Given the description of an element on the screen output the (x, y) to click on. 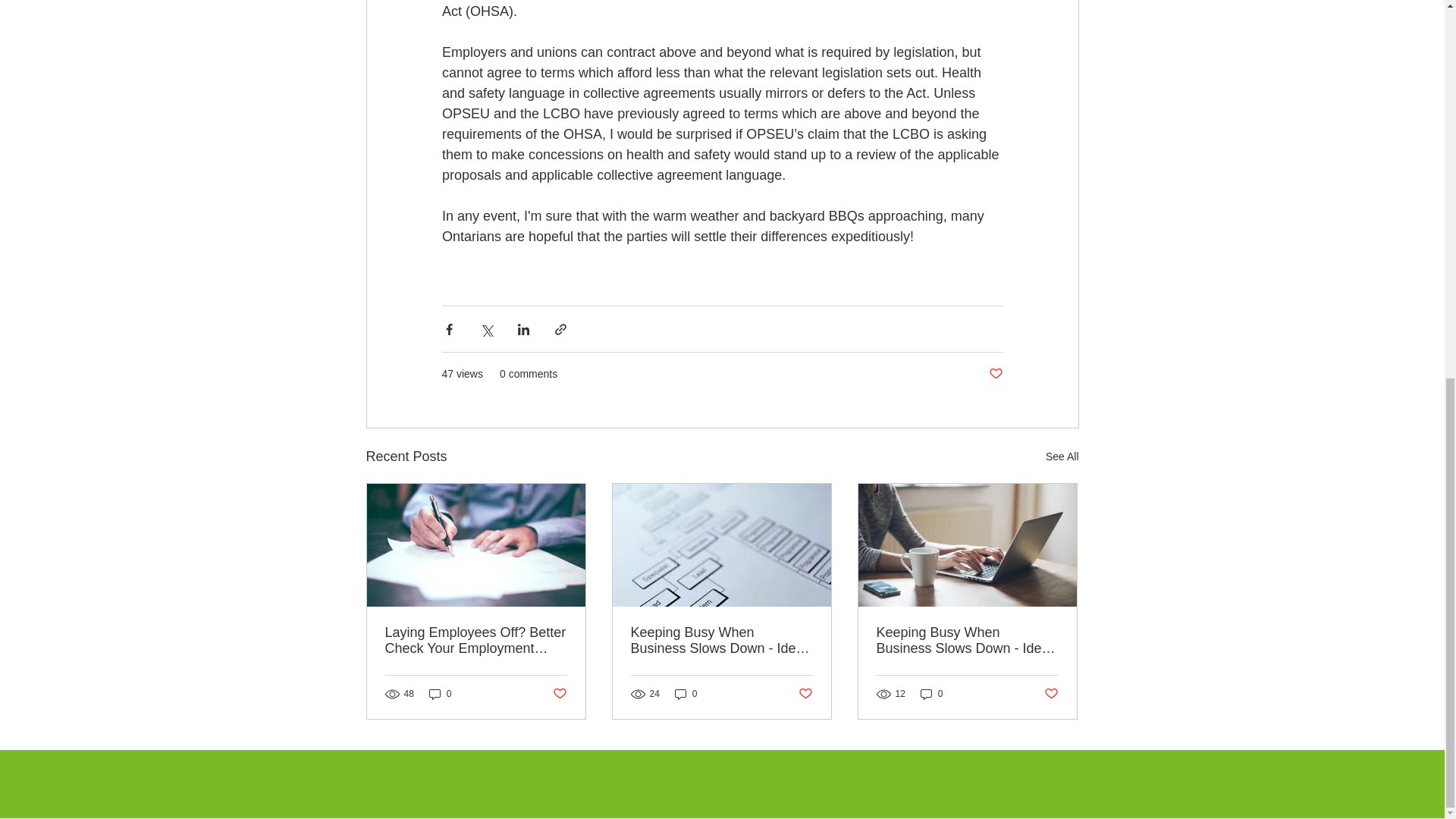
Post not marked as liked (1050, 693)
Post not marked as liked (804, 693)
0 (685, 693)
0 (931, 693)
See All (1061, 456)
Laying Employees Off? Better Check Your Employment Contracts (476, 640)
Post not marked as liked (558, 693)
Post not marked as liked (995, 374)
0 (440, 693)
